Given the description of an element on the screen output the (x, y) to click on. 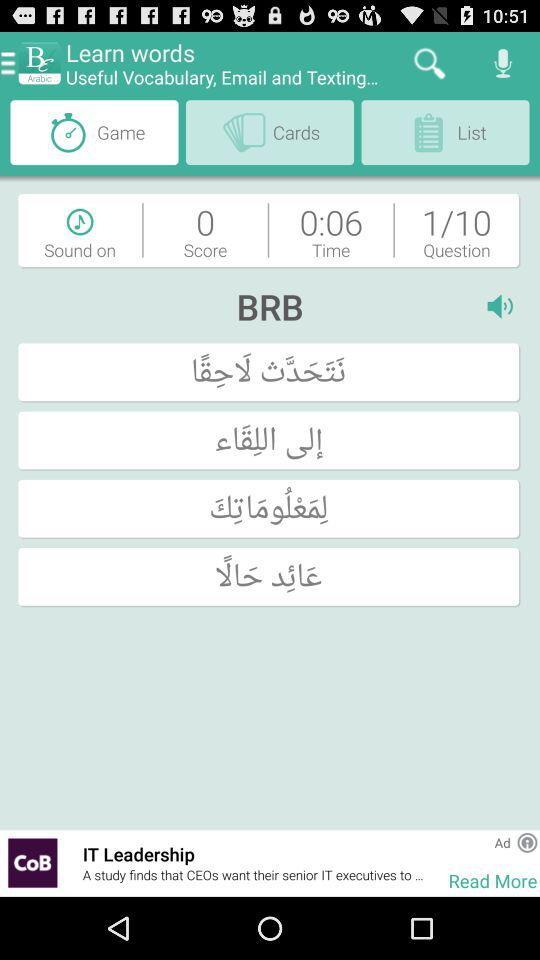
turn on the icon above read more icon (502, 842)
